Given the description of an element on the screen output the (x, y) to click on. 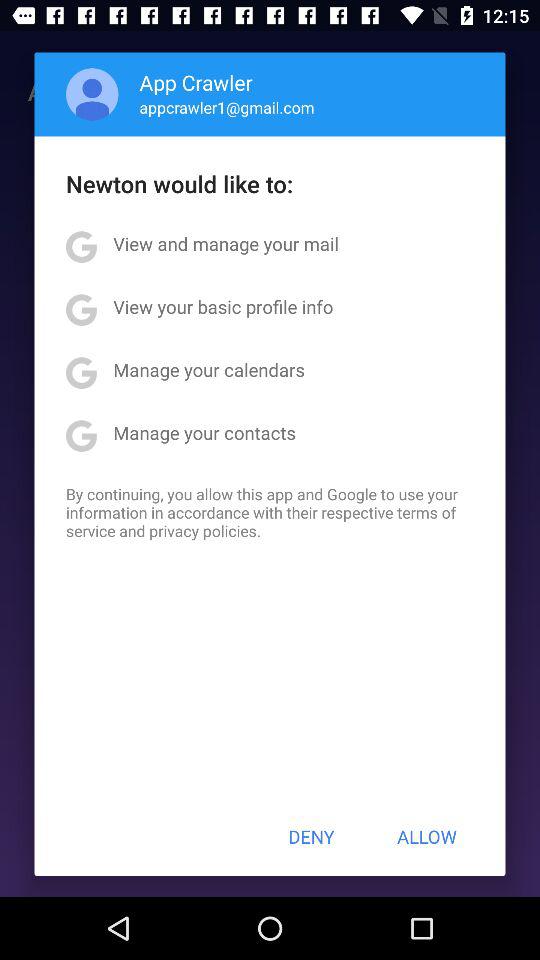
select icon above newton would like icon (92, 94)
